Given the description of an element on the screen output the (x, y) to click on. 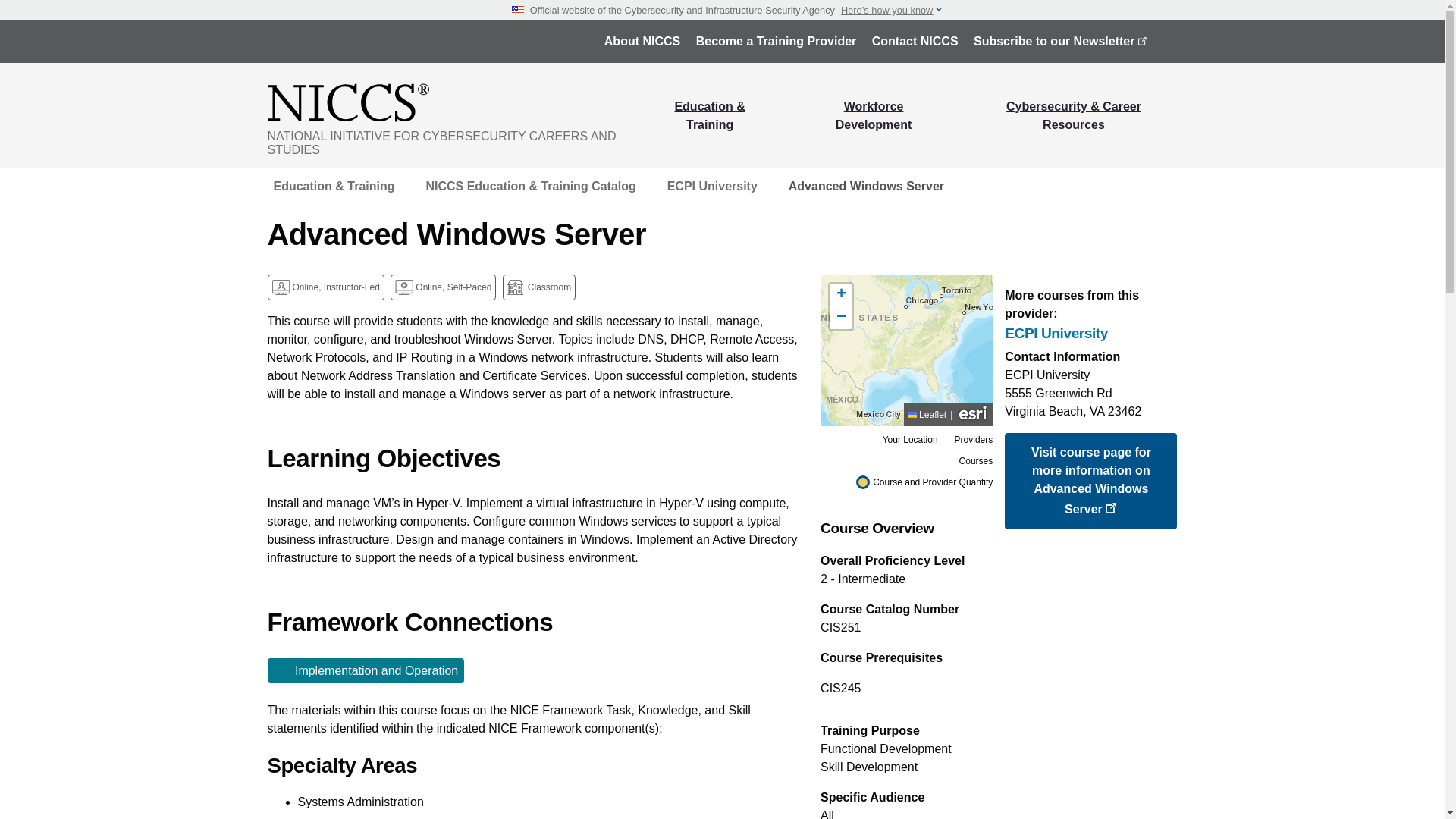
Course Location Map (906, 349)
About NICCS (641, 41)
More courses from ECPI University (1090, 333)
National Initiative for Cybersecurity Careers and Studies (454, 102)
Workforce Development (873, 115)
Become a Training Provider (776, 41)
Implementation and Operation (365, 670)
Become a Training Provider (776, 41)
Zoom out (840, 317)
About NICCS (641, 41)
ECPI University (711, 186)
Zoom in (840, 294)
ECPI University (1090, 333)
A JavaScript library for interactive maps (926, 414)
